Given the description of an element on the screen output the (x, y) to click on. 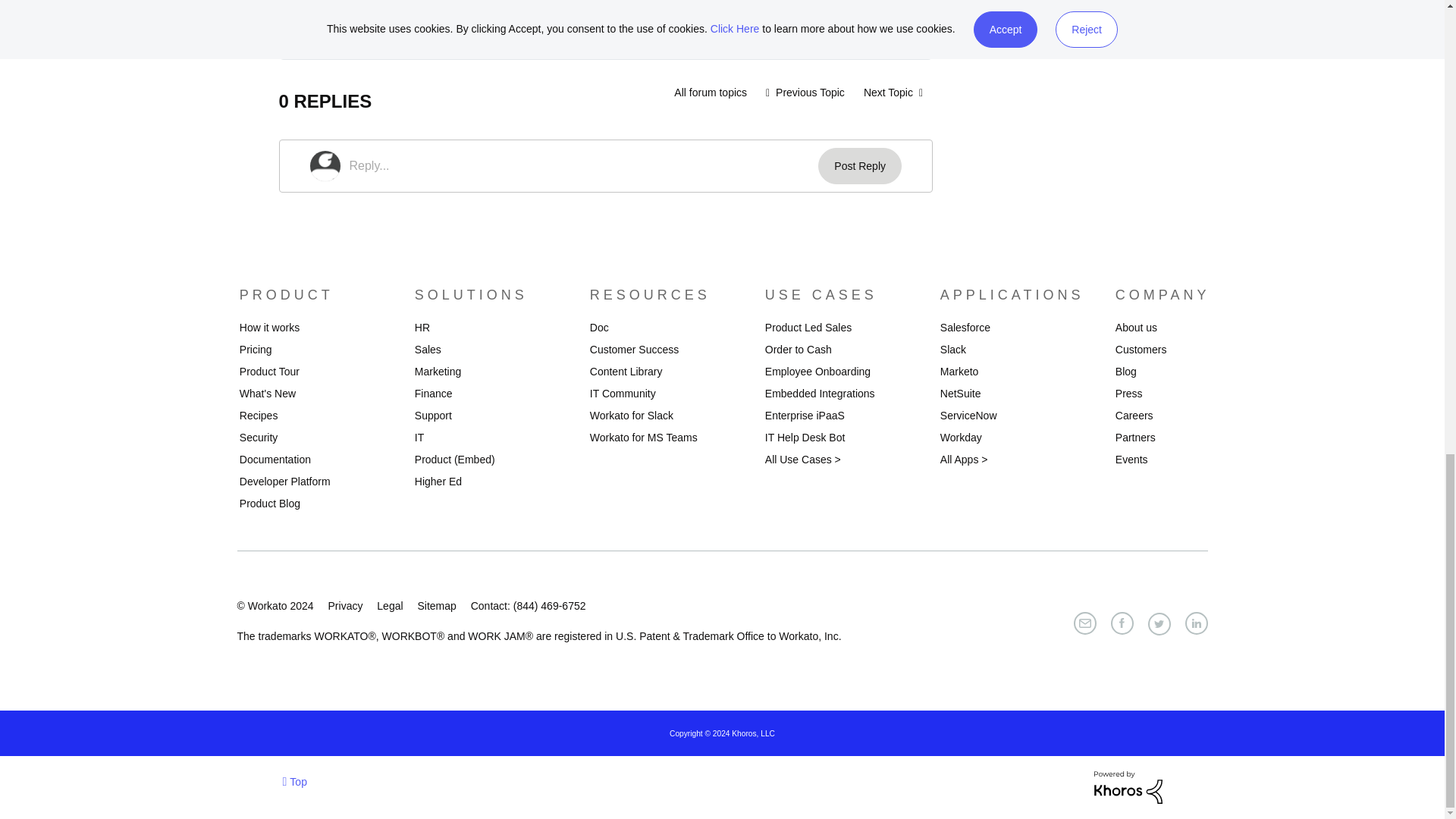
Top (293, 780)
Top (293, 780)
Click here to see who gave kudos to this post. (353, 24)
Automation Institute Discussion (710, 92)
